Given the description of an element on the screen output the (x, y) to click on. 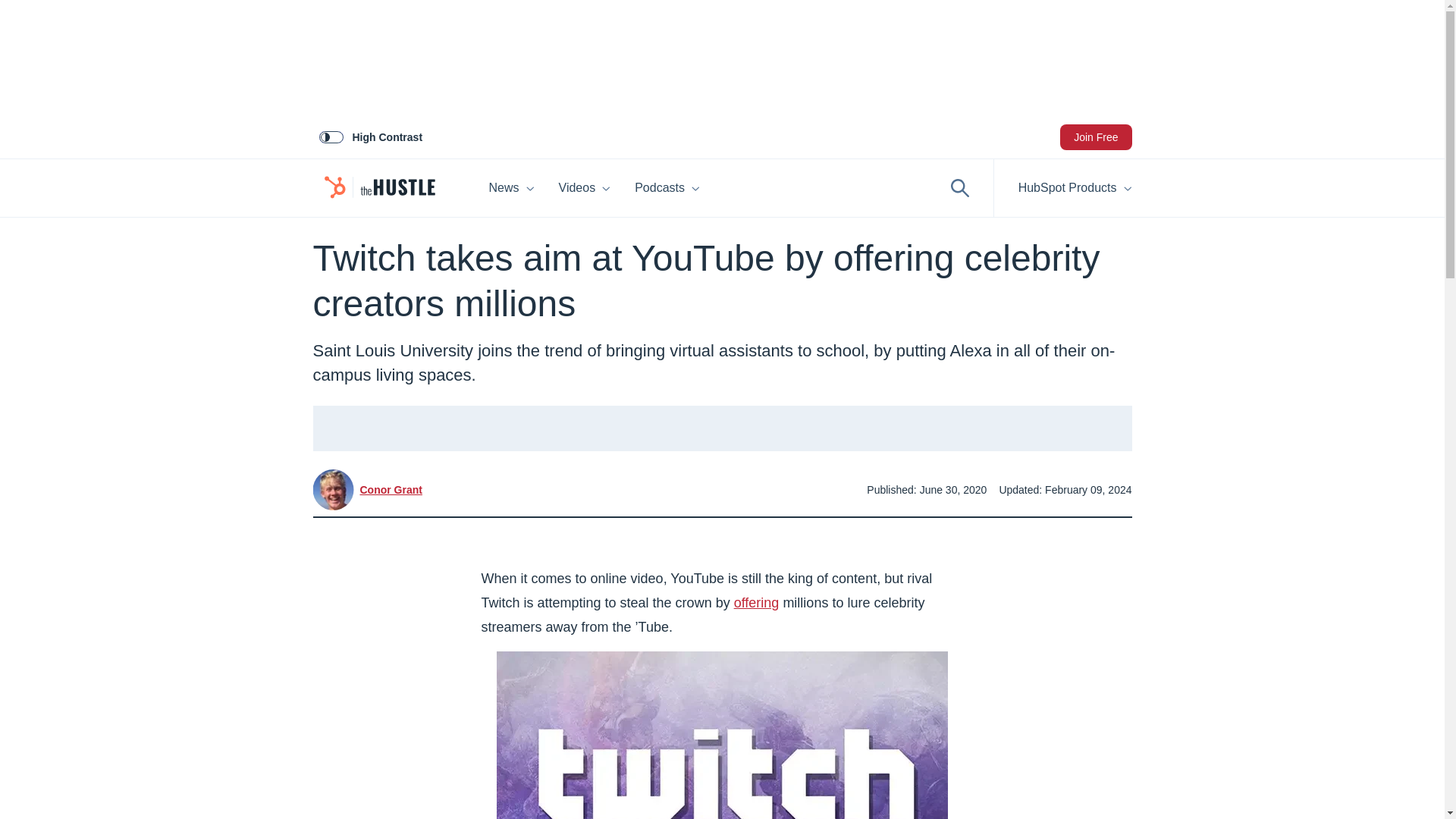
HubSpot Products (1063, 187)
High Contrast (370, 137)
Podcasts (738, 187)
Join Free (1095, 136)
Videos (585, 187)
News (511, 187)
